Given the description of an element on the screen output the (x, y) to click on. 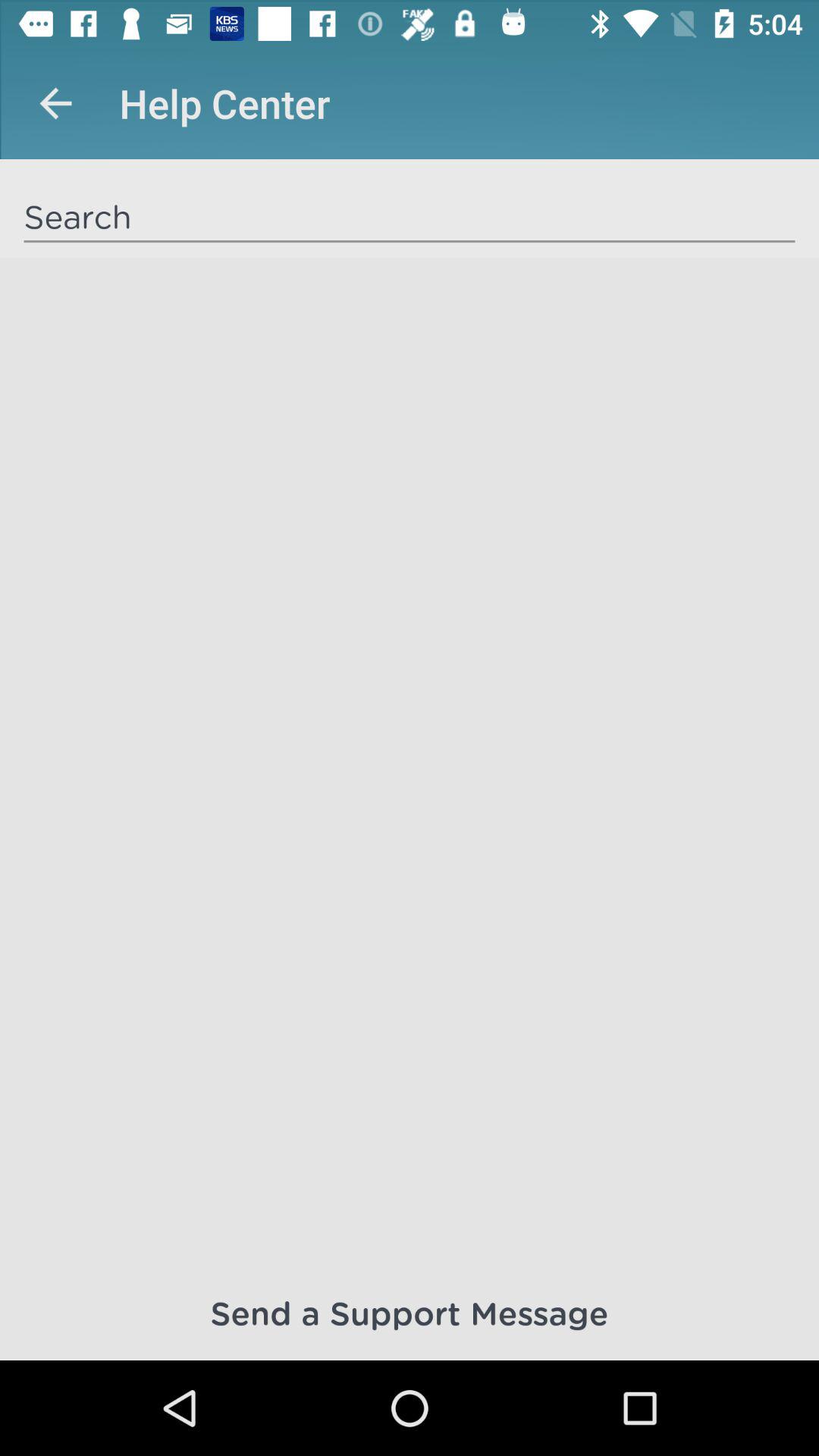
turn off app next to help center icon (55, 103)
